Given the description of an element on the screen output the (x, y) to click on. 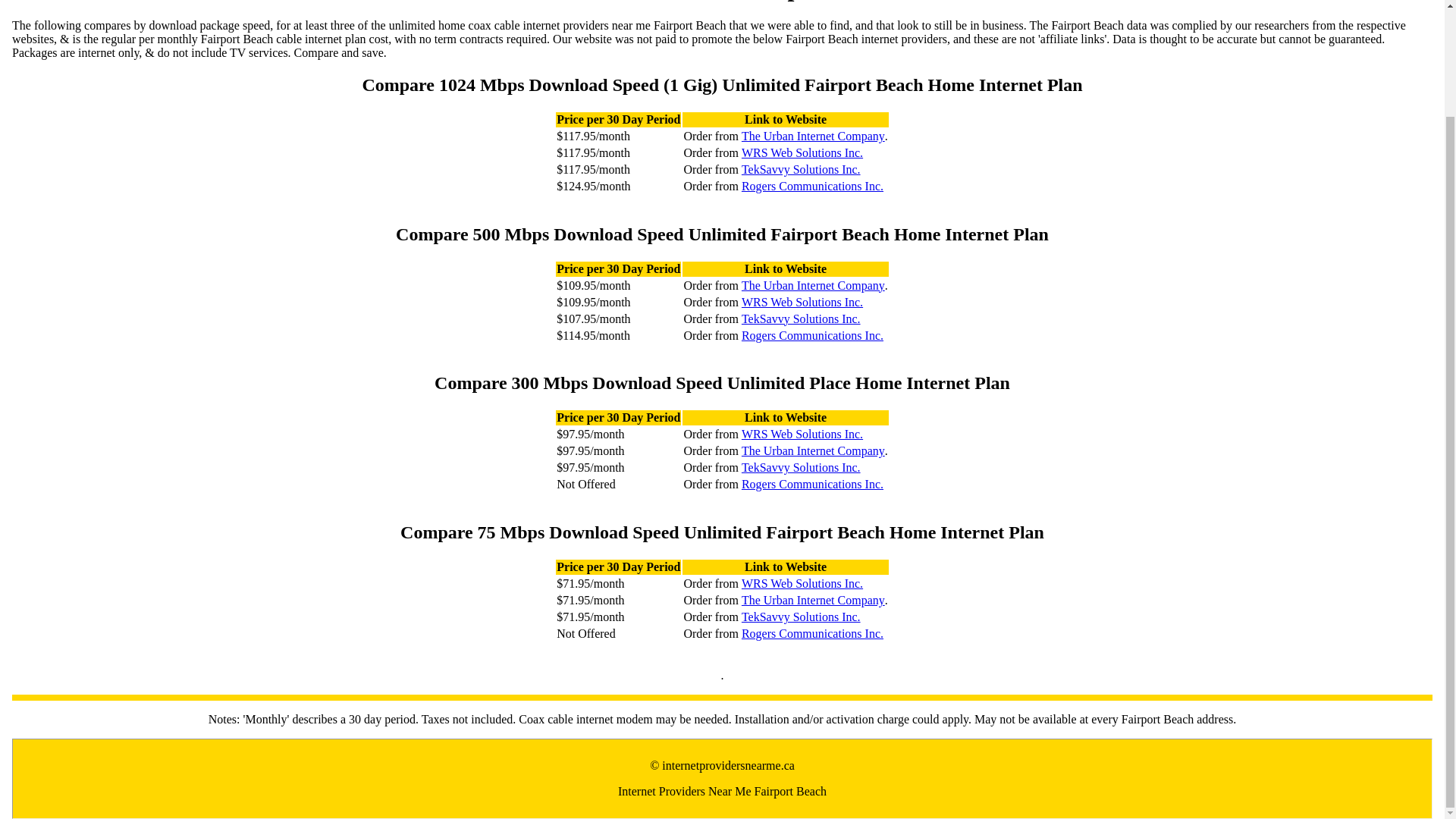
The Urban Internet Company (813, 136)
Rogers Communications Inc. (812, 484)
The Urban Internet Company (813, 450)
Rogers Communications Inc. (812, 633)
The Urban Internet Company (813, 284)
Rogers Communications Inc. (812, 335)
WRS Web Solutions Inc. (802, 301)
The Urban Internet Company (813, 600)
TekSavvy Solutions Inc. (800, 169)
WRS Web Solutions Inc. (802, 152)
